Given the description of an element on the screen output the (x, y) to click on. 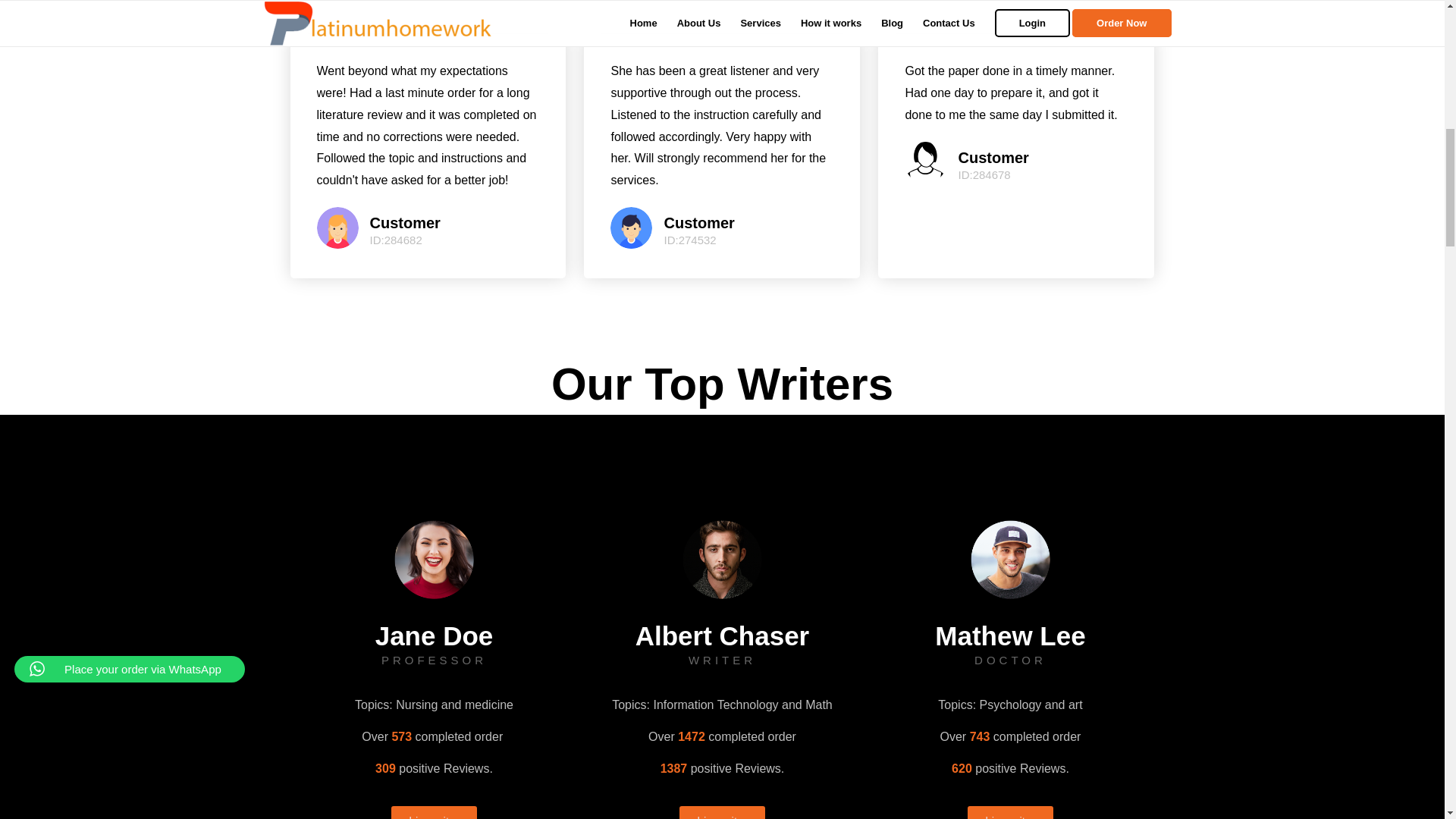
Assignment writing services (721, 559)
Assignment writing services (631, 227)
hire writer (1011, 812)
hire writer (434, 812)
Assignment writing services (337, 227)
Assignment writing services (925, 162)
Assignment writing services (1009, 559)
Assignment writing services (433, 559)
hire writer (722, 812)
